Given the description of an element on the screen output the (x, y) to click on. 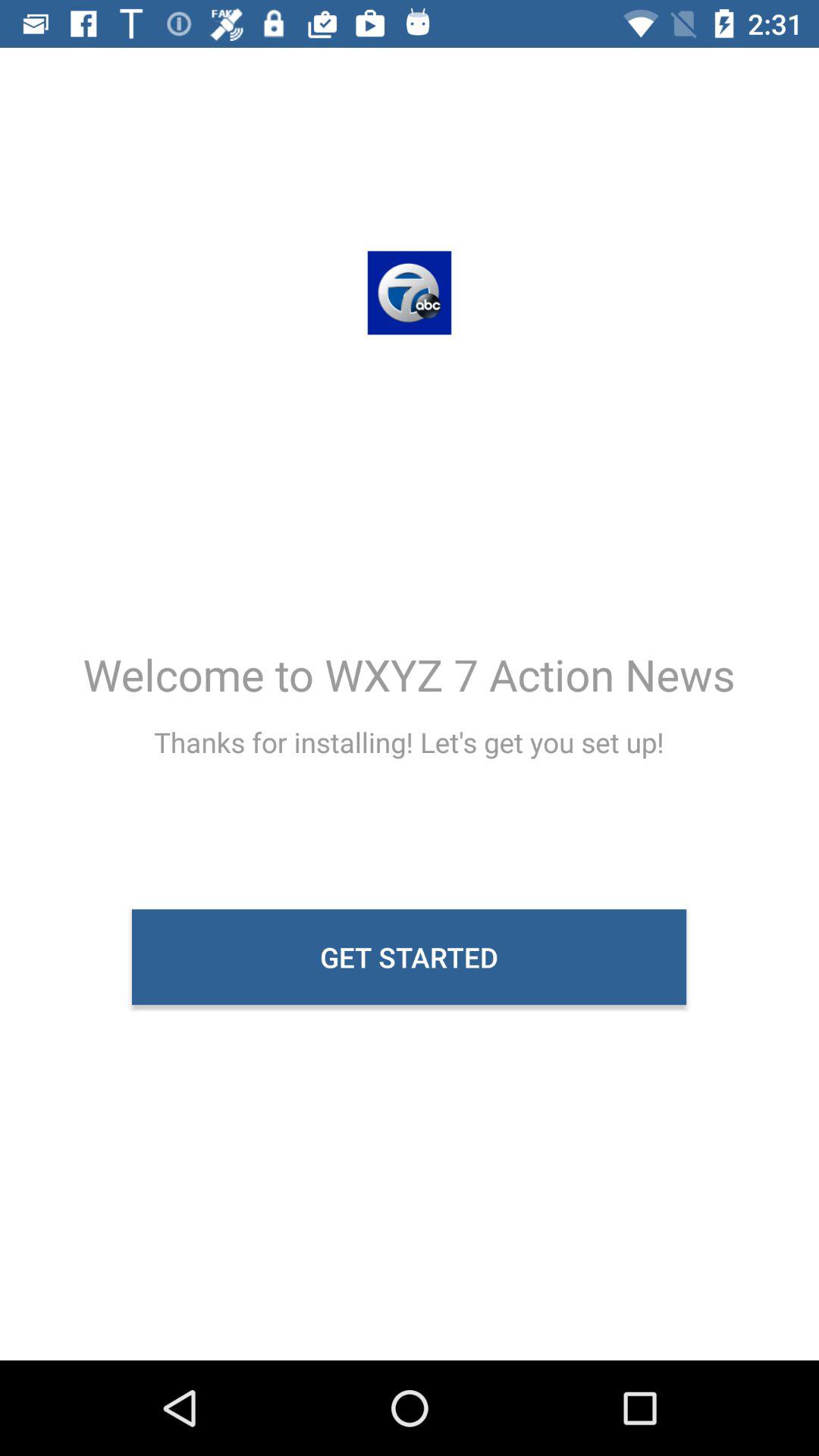
scroll until get started item (408, 956)
